Given the description of an element on the screen output the (x, y) to click on. 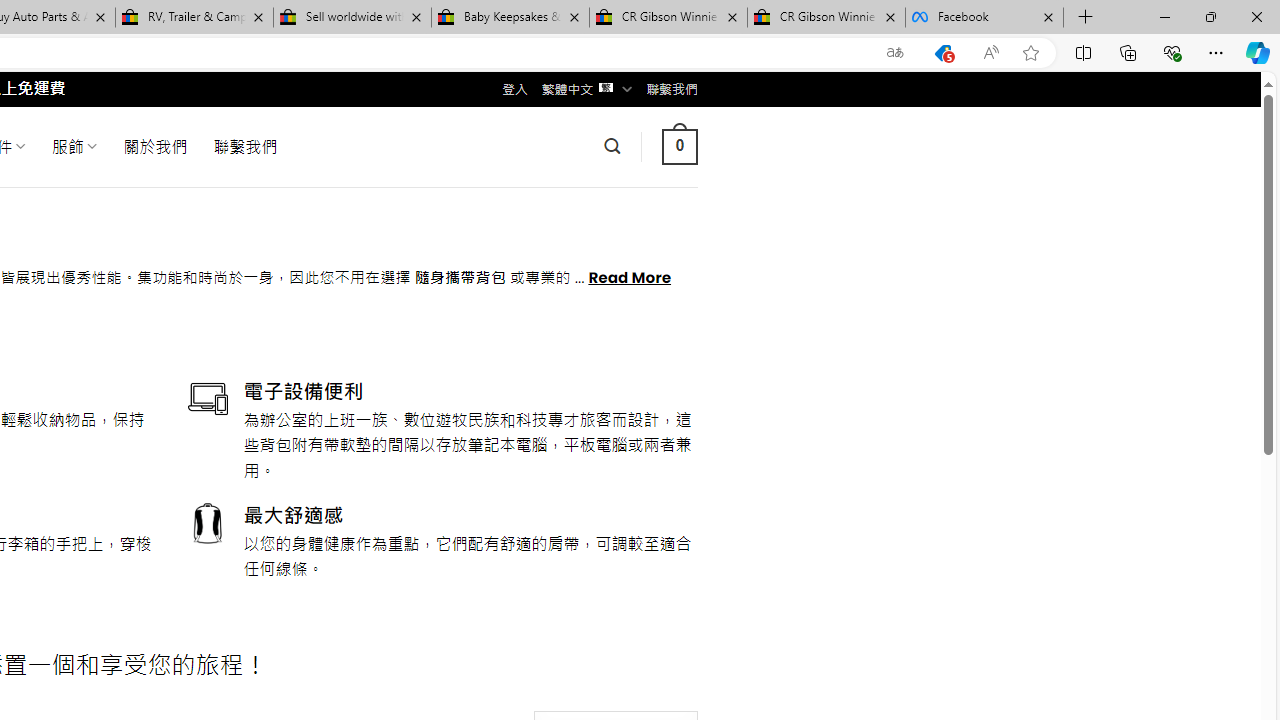
Settings and more (Alt+F) (1215, 52)
Restore (1210, 16)
Close (1256, 16)
Copilot (Ctrl+Shift+.) (1258, 52)
  0   (679, 146)
